Given the description of an element on the screen output the (x, y) to click on. 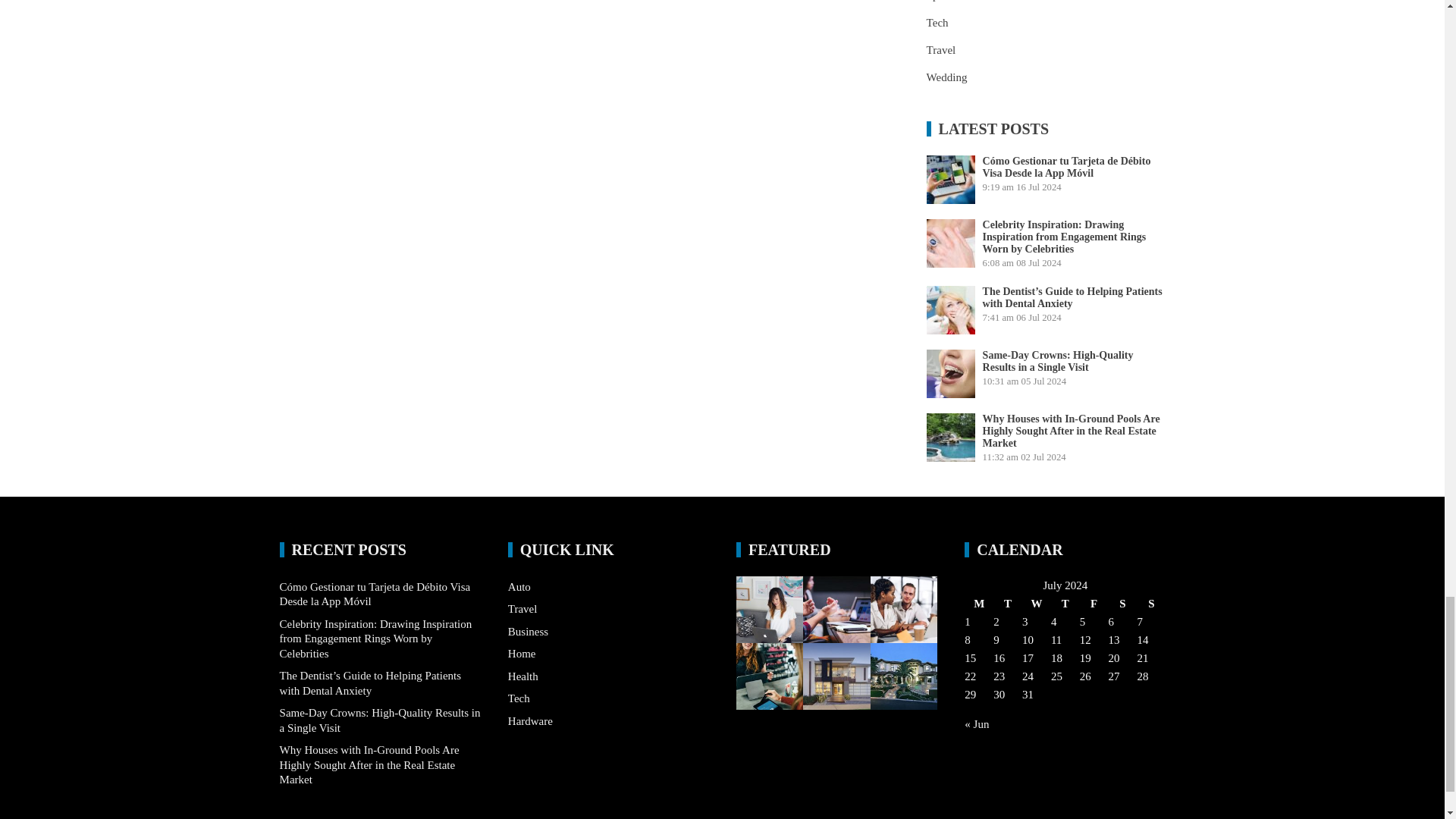
Monday (977, 603)
Thursday (1065, 603)
Tuesday (1007, 603)
Sunday (1151, 603)
Wednesday (1036, 603)
Friday (1094, 603)
Saturday (1122, 603)
